Given the description of an element on the screen output the (x, y) to click on. 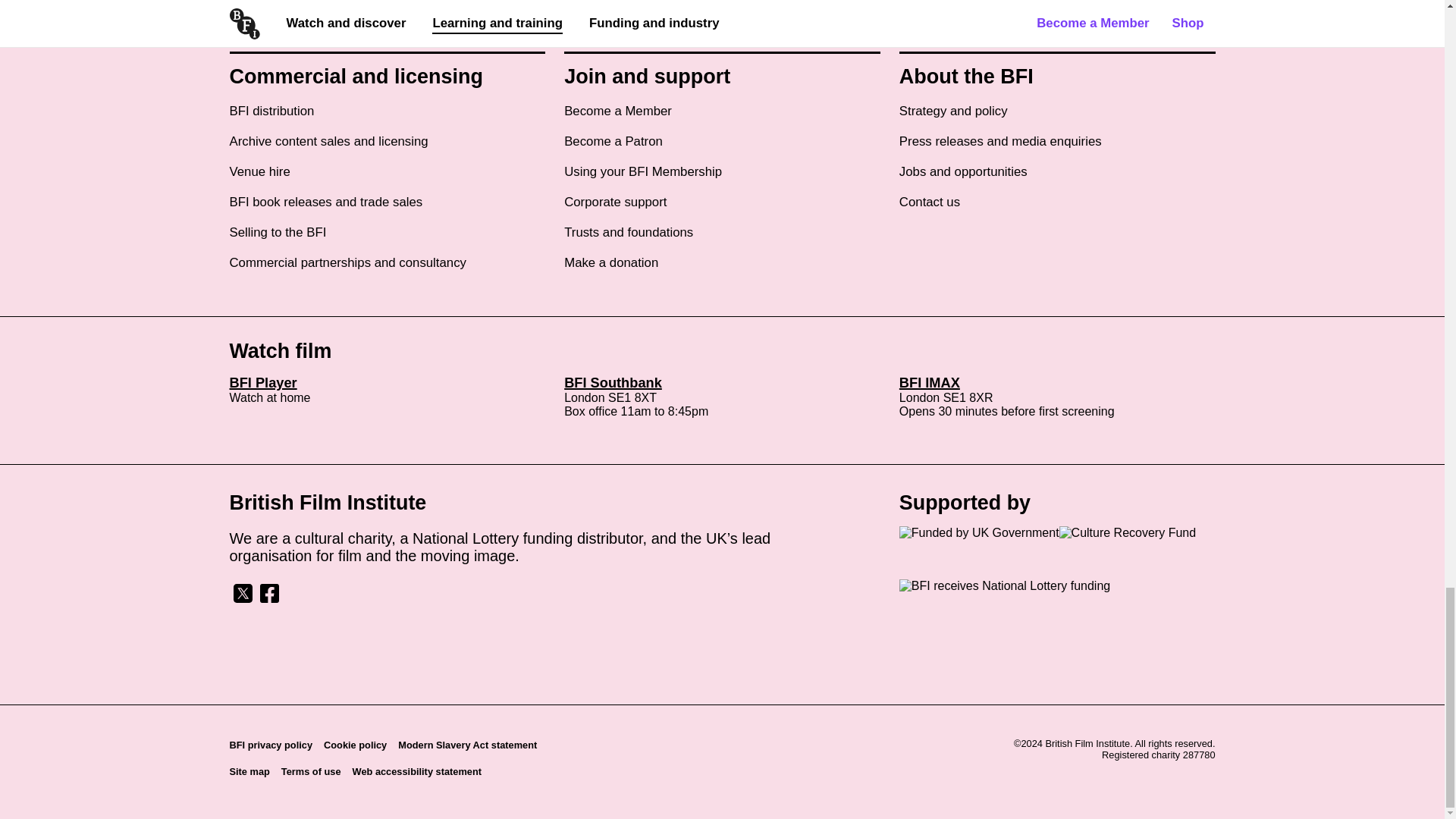
View our Facebook (269, 599)
View our Twitter (242, 599)
BFI book releases and trade sales (325, 201)
Strategy and policy (953, 111)
Using your BFI Membership (643, 171)
Facebook (269, 592)
View our YouTube (347, 599)
Make a donation (611, 263)
BFI distribution (271, 111)
YouTube (347, 592)
Corporate support (615, 201)
Commercial and licensing (355, 76)
LinkedIn (322, 592)
Press releases and media enquiries (1000, 141)
Archive content sales and licensing (328, 141)
